Given the description of an element on the screen output the (x, y) to click on. 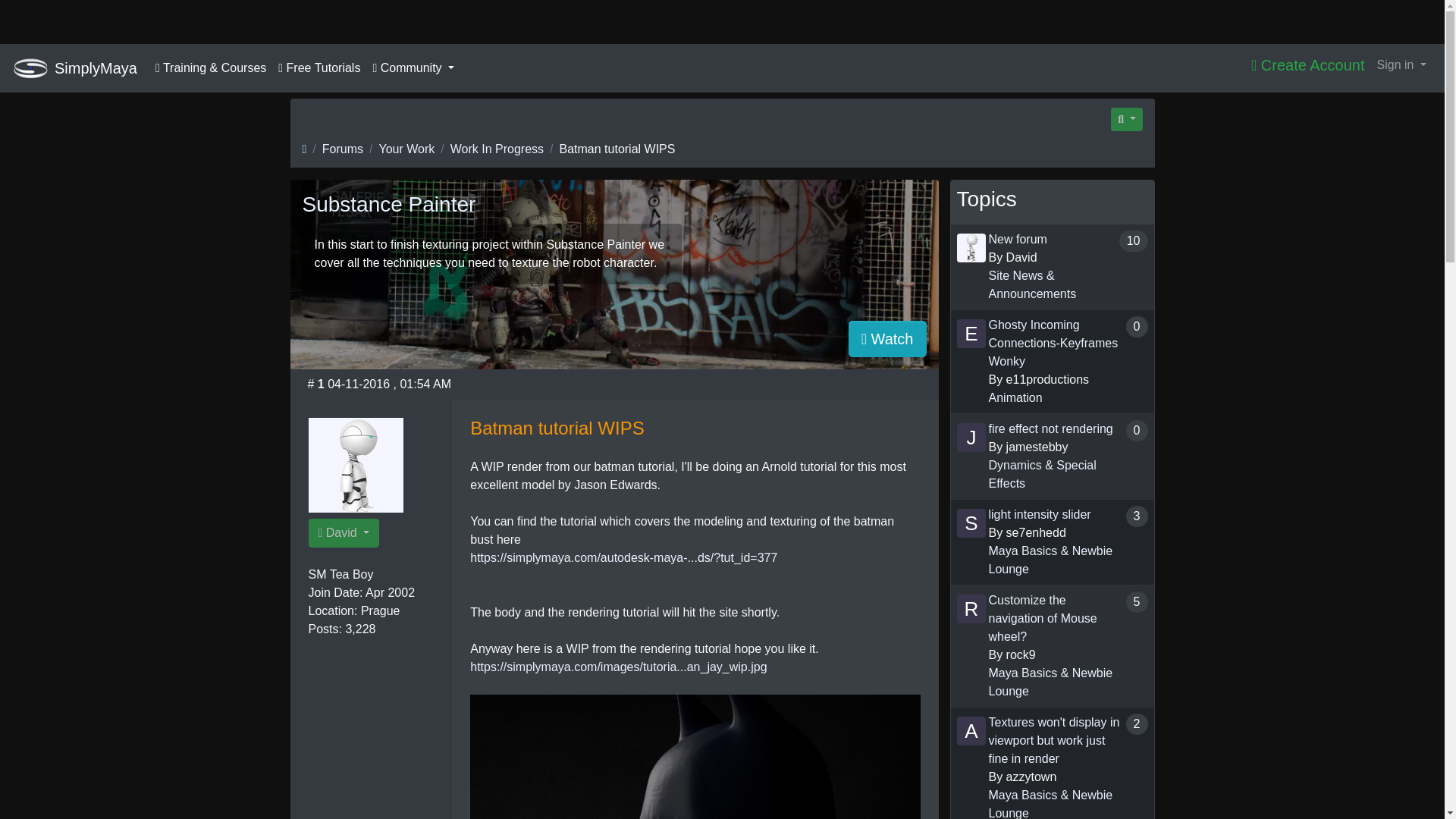
Substance Painter (388, 204)
Community (413, 68)
Forums (341, 148)
Free Tutorials (319, 68)
Sign in (1401, 64)
Work In Progress (496, 148)
Your Work (405, 148)
Watch (887, 339)
SimplyMaya (95, 68)
Create Account (1307, 64)
